Given the description of an element on the screen output the (x, y) to click on. 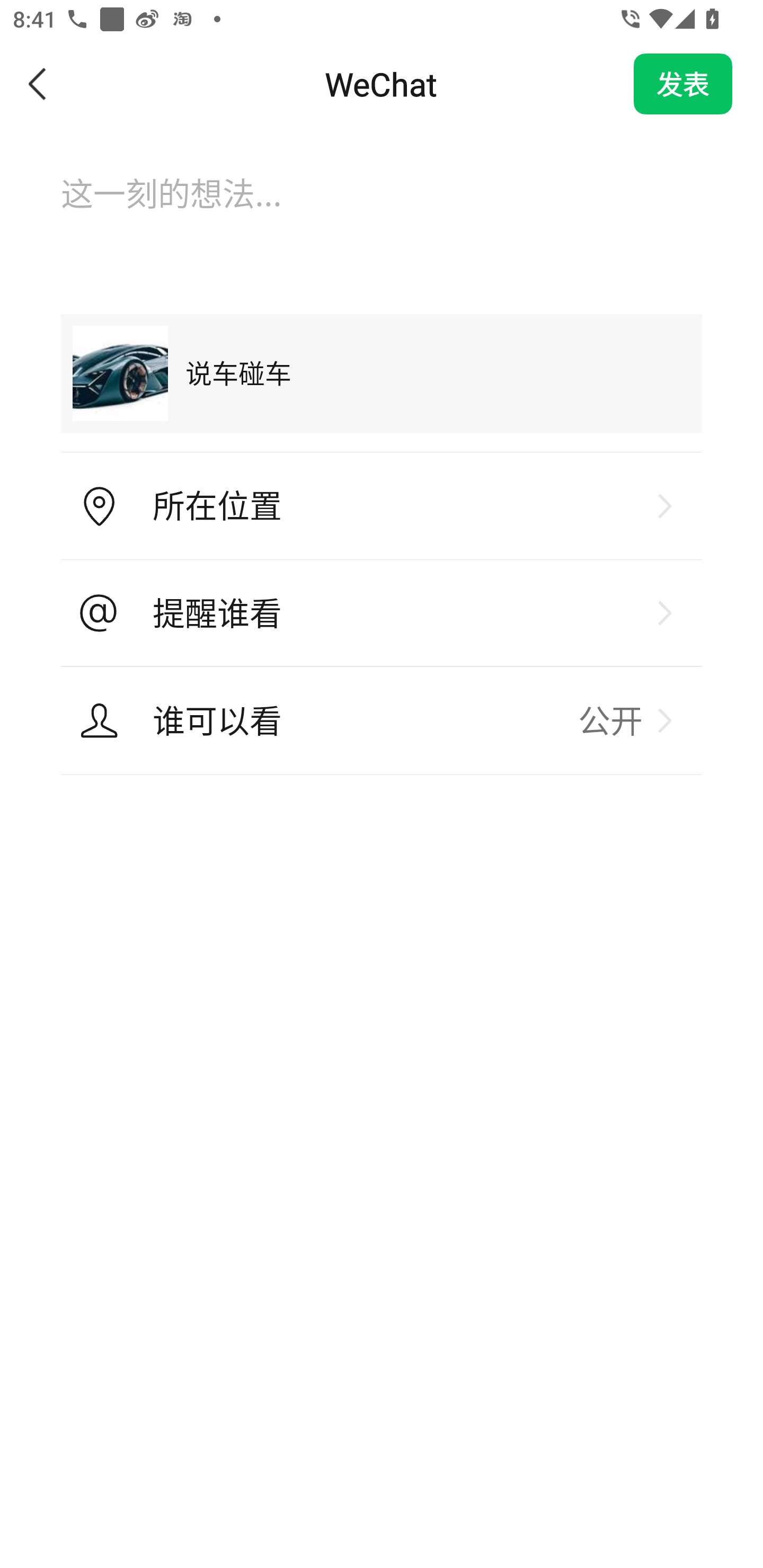
返回 (38, 83)
发表 (683, 83)
这一刻的想法... (381, 211)
说车碰车 (381, 372)
所在位置 (381, 506)
提醒谁看  提醒谁看 (381, 612)
谁可以看 公开 (381, 720)
